Given the description of an element on the screen output the (x, y) to click on. 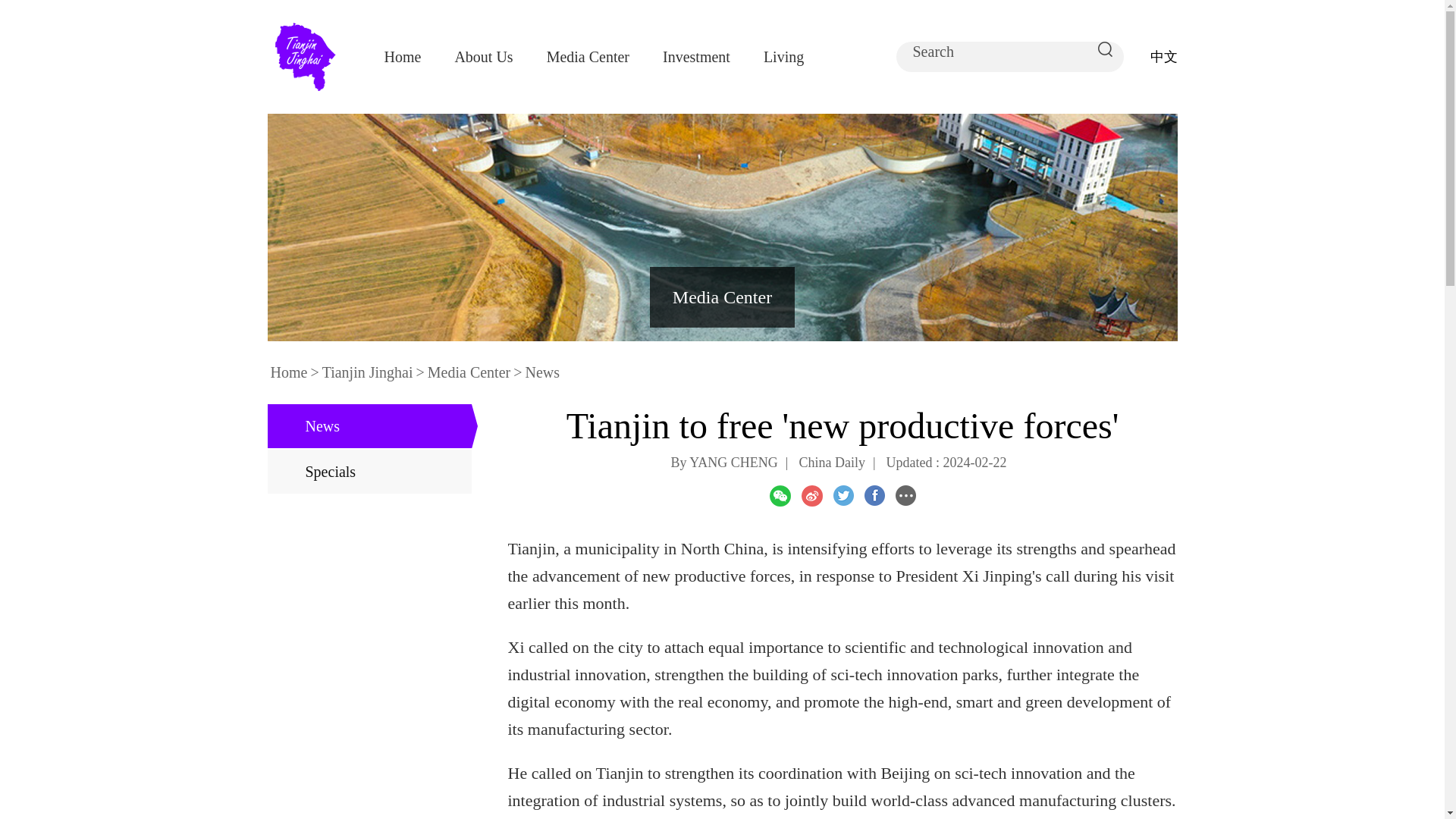
News (541, 372)
Home (288, 372)
Media Center (587, 56)
News (368, 425)
Media Center (721, 296)
About Us (483, 56)
Home (402, 56)
Media Center (469, 372)
Search (1000, 51)
Specials (368, 471)
